Given the description of an element on the screen output the (x, y) to click on. 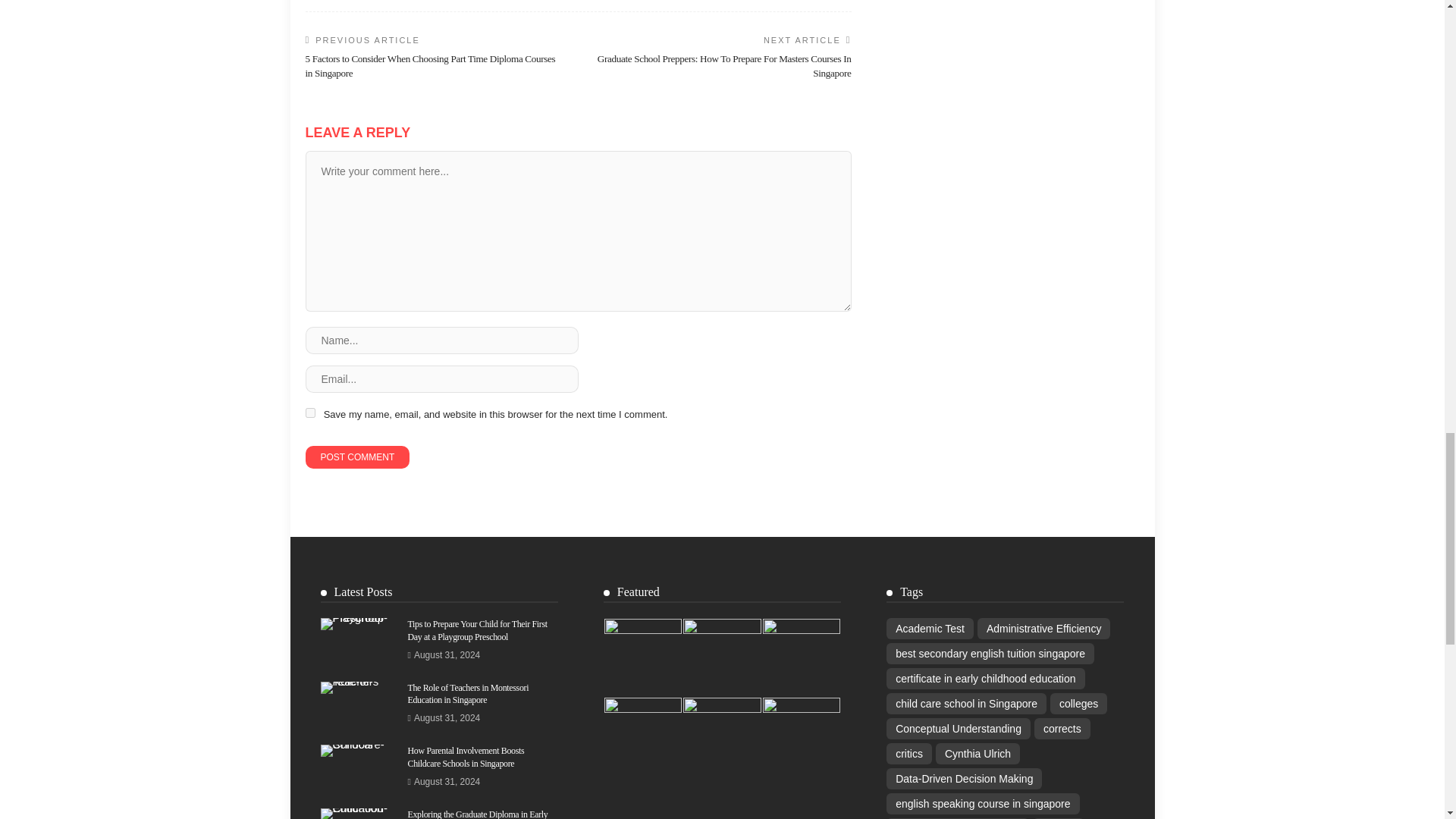
Post Comment (356, 456)
Post Comment (356, 456)
yes (309, 412)
